Given the description of an element on the screen output the (x, y) to click on. 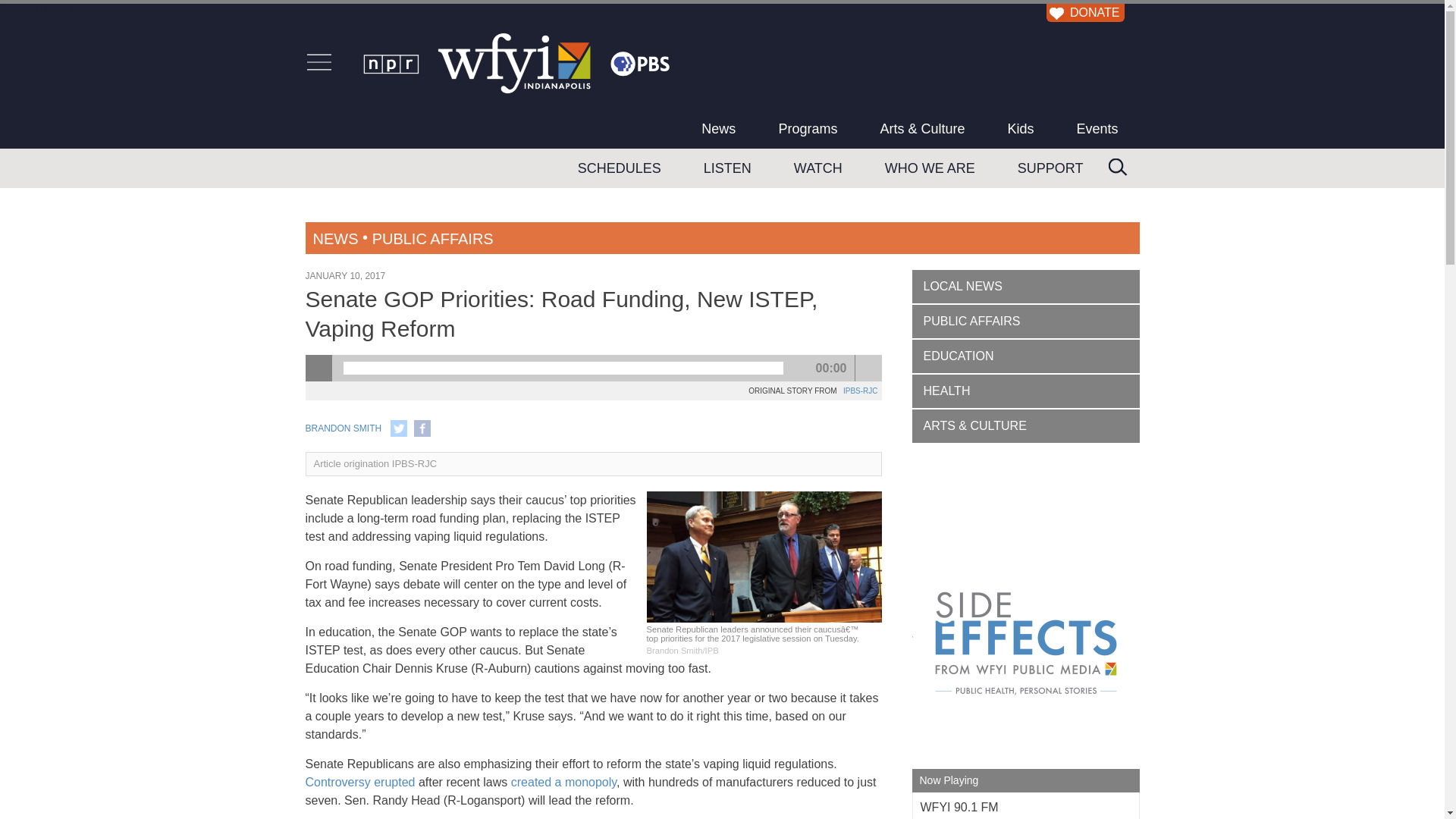
NEWS (335, 238)
PUBLIC AFFAIRS (432, 238)
Events (1096, 128)
Skip to main content (55, 9)
LISTEN (727, 168)
DONATE (1082, 11)
SUPPORT (1050, 168)
SCHEDULES (619, 168)
News (718, 128)
Kids (1019, 128)
